Given the description of an element on the screen output the (x, y) to click on. 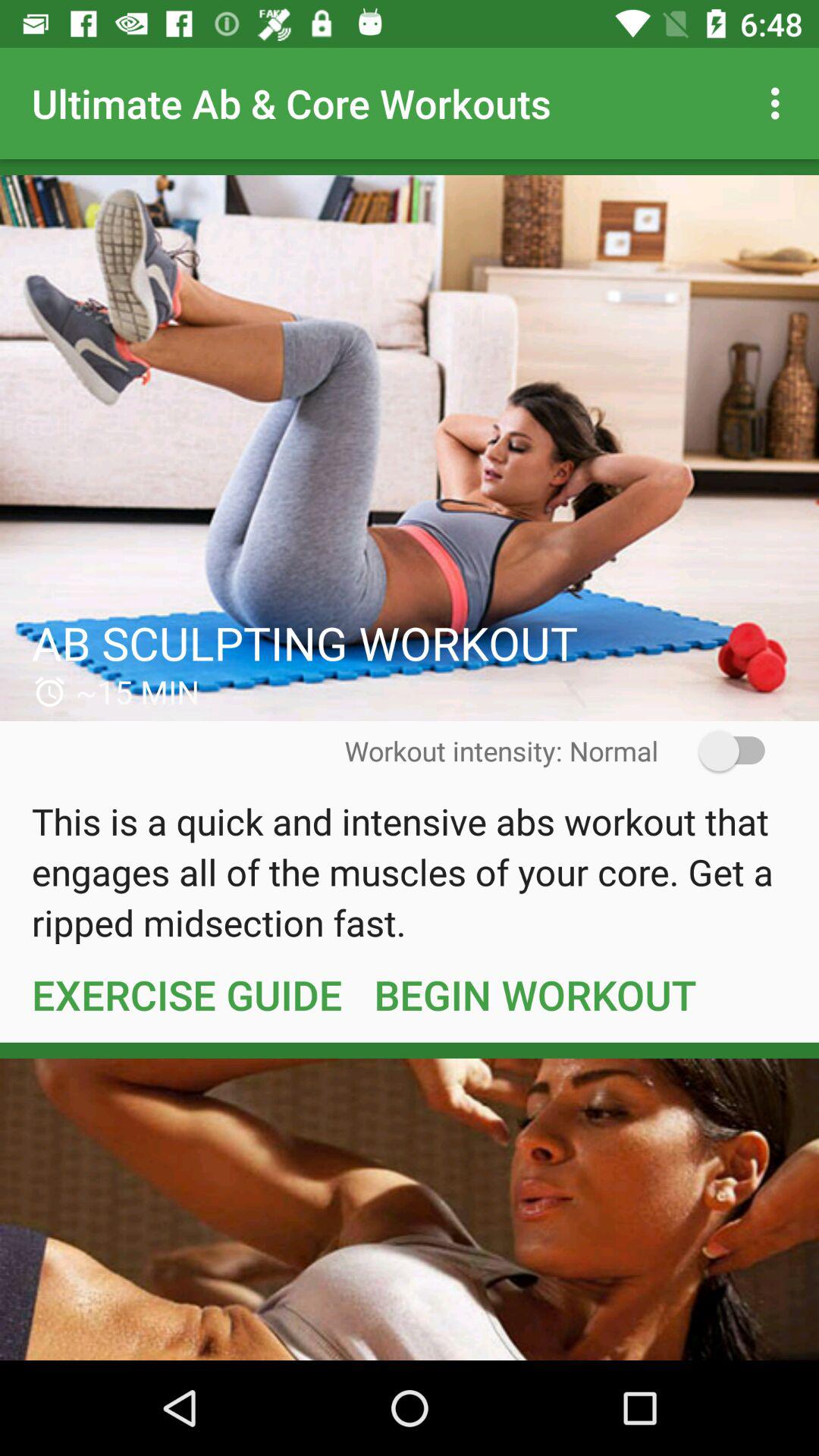
press the item above the this is a item (722, 750)
